Given the description of an element on the screen output the (x, y) to click on. 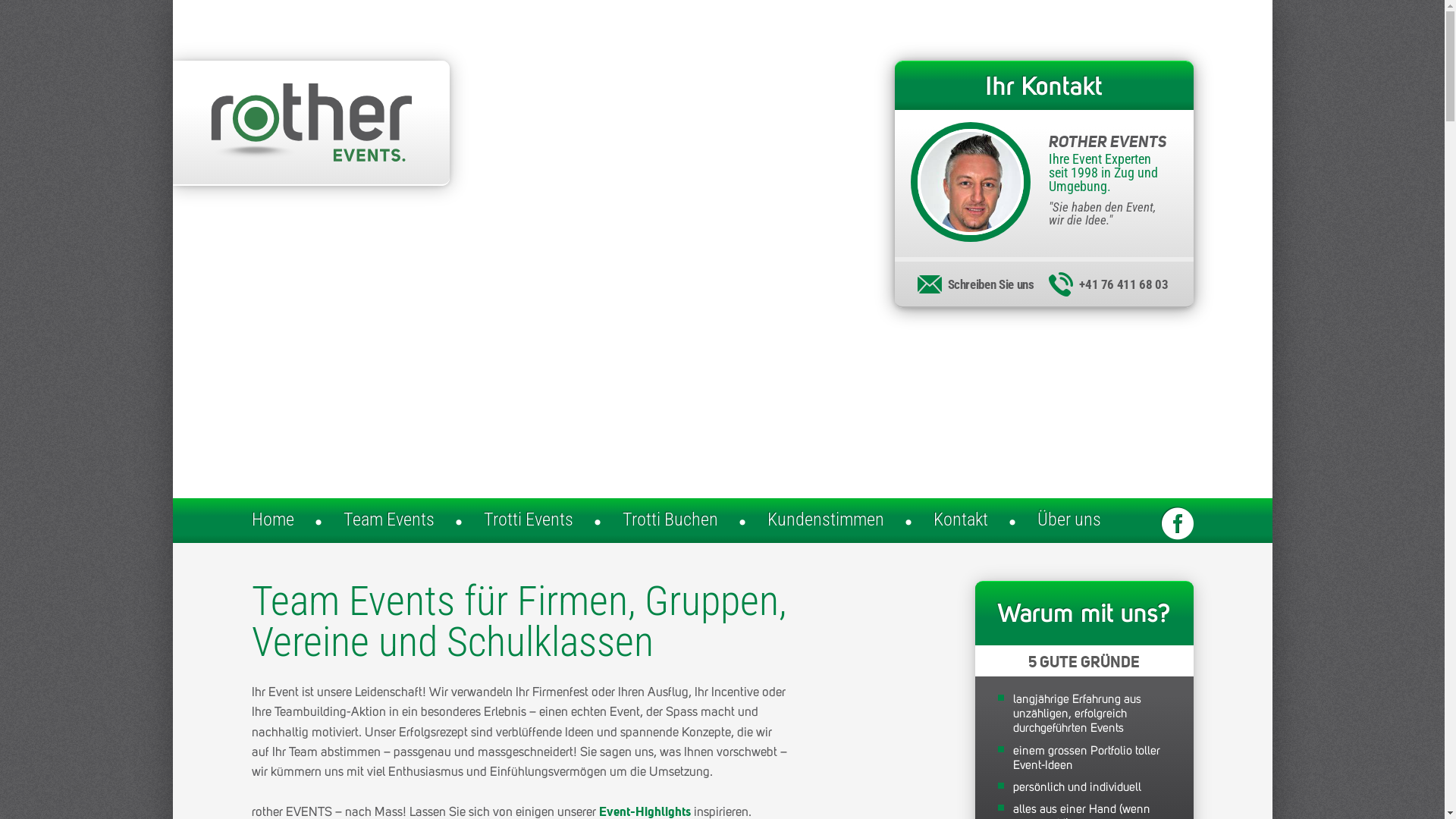
Kontakt Element type: text (960, 520)
Home Element type: text (272, 520)
Trotti Buchen Element type: text (670, 520)
Trotti Events Element type: text (528, 520)
Team Events Element type: text (388, 520)
Schreiben Sie uns Element type: text (977, 281)
Kundenstimmen Element type: text (825, 520)
